Given the description of an element on the screen output the (x, y) to click on. 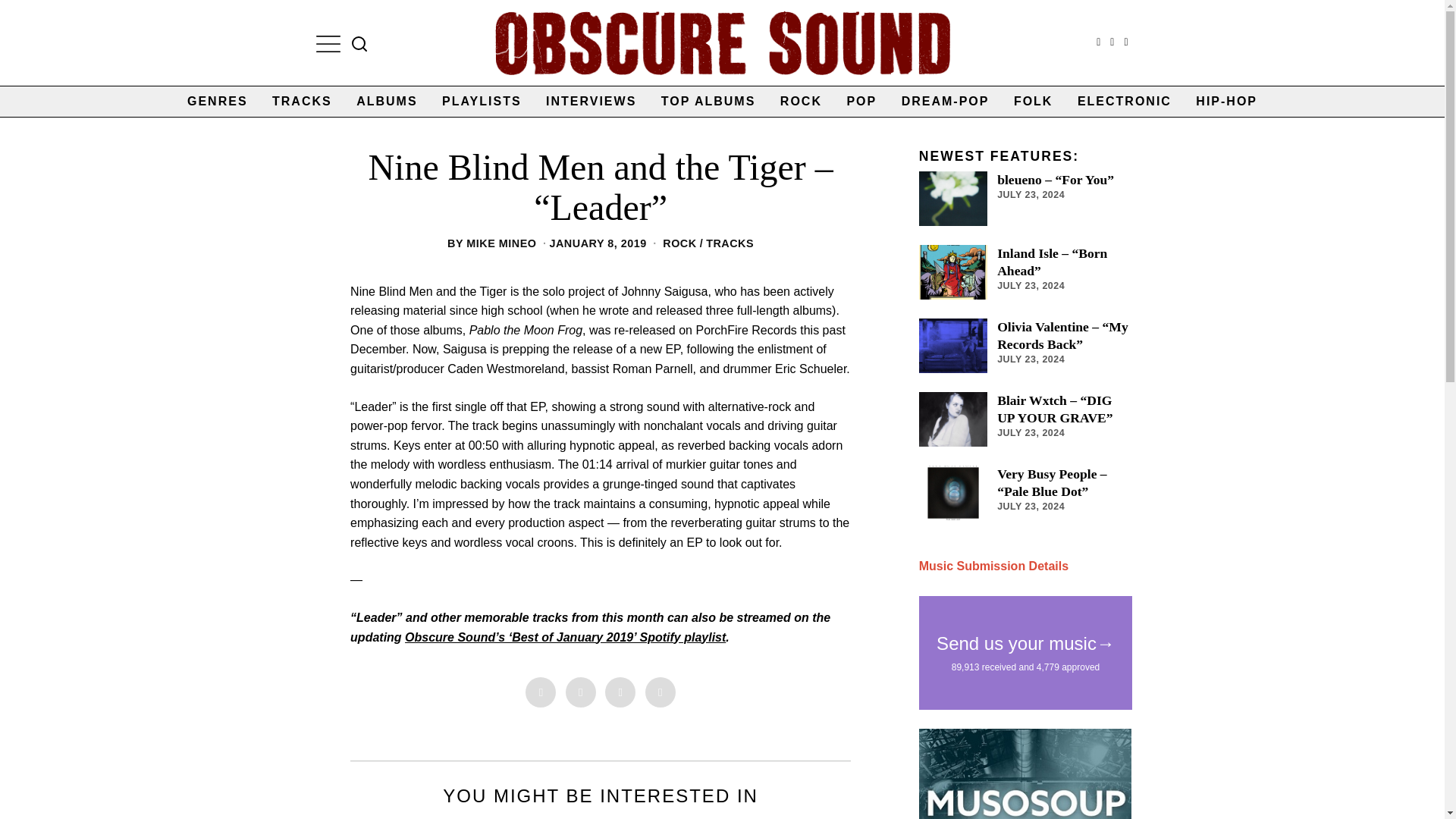
POP (860, 101)
INTERVIEWS (590, 101)
HIP-HOP (1226, 101)
DREAM-POP (945, 101)
TOP ALBUMS (708, 101)
Send music (993, 565)
FOLK (1033, 101)
TRACKS (730, 243)
ALBUMS (387, 101)
MIKE MINEO (500, 243)
ELECTRONIC (1124, 101)
PLAYLISTS (481, 101)
ROCK (678, 243)
TRACKS (302, 101)
GENRES (217, 101)
